Given the description of an element on the screen output the (x, y) to click on. 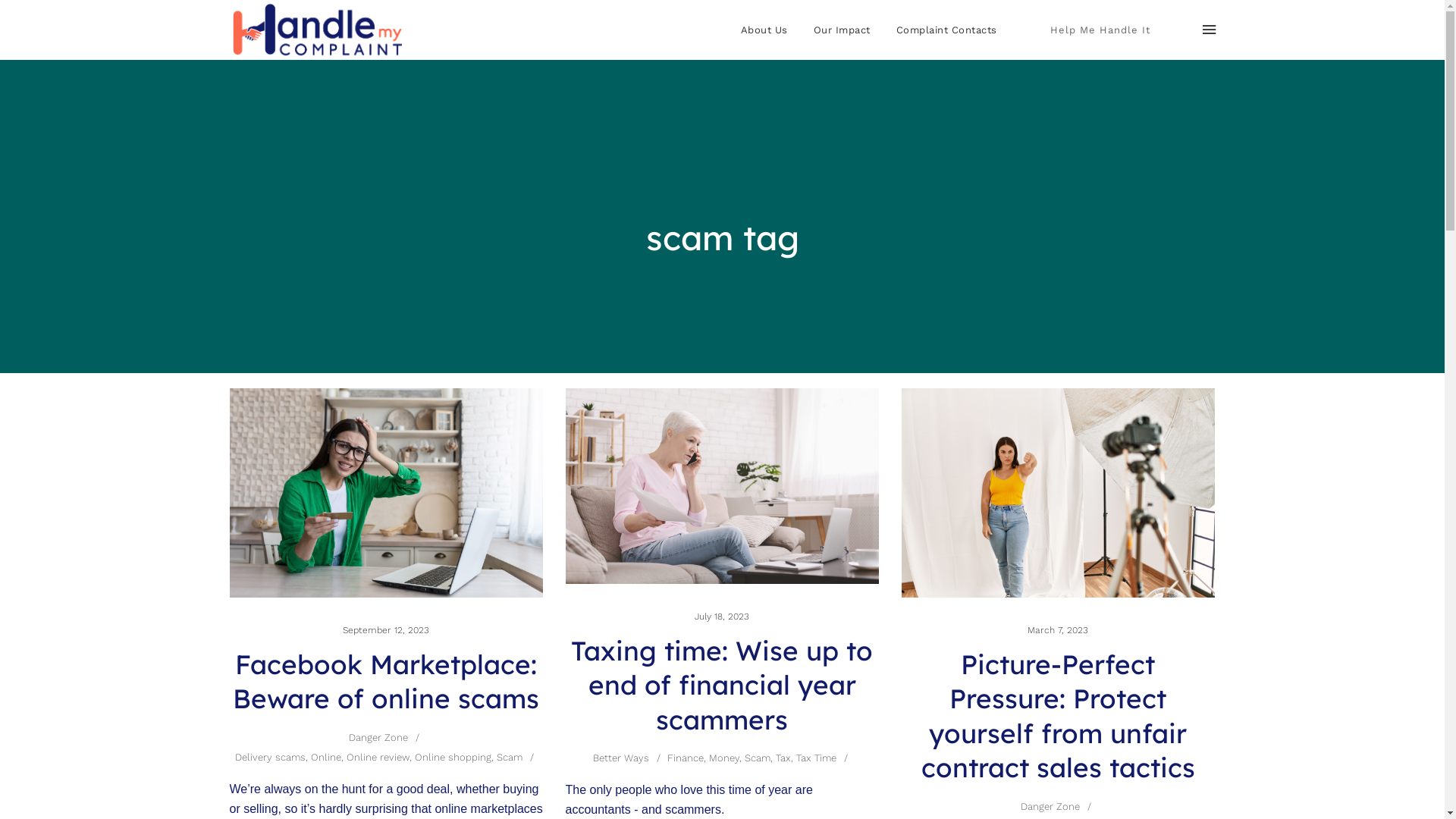
September 12, 2023 Element type: text (385, 629)
July 18, 2023 Element type: text (721, 616)
Scam Element type: text (757, 757)
Help Me Handle It Element type: text (1099, 29)
Tax Time Element type: text (816, 757)
Taxing time: Wise up to end of financial year scammers Element type: text (721, 684)
Scam Element type: text (509, 756)
Finance Element type: text (685, 757)
Facebook Marketplace: Beware of online scams Element type: hover (385, 492)
Facebook Marketplace: Beware of online scams Element type: text (385, 681)
Online review Element type: text (377, 756)
Money Element type: text (724, 757)
Our Impact Element type: text (841, 29)
Delivery scams Element type: text (270, 756)
Danger Zone Element type: text (1049, 806)
Tax Element type: text (782, 757)
March 7, 2023 Element type: text (1057, 629)
Better Ways Element type: text (621, 757)
About Us Element type: text (764, 29)
Danger Zone Element type: text (377, 737)
Taxing time: Wise up to end of financial year scammers Element type: hover (721, 485)
Online Element type: text (325, 756)
Complaint Contacts Element type: text (951, 29)
Online shopping Element type: text (452, 756)
